Given the description of an element on the screen output the (x, y) to click on. 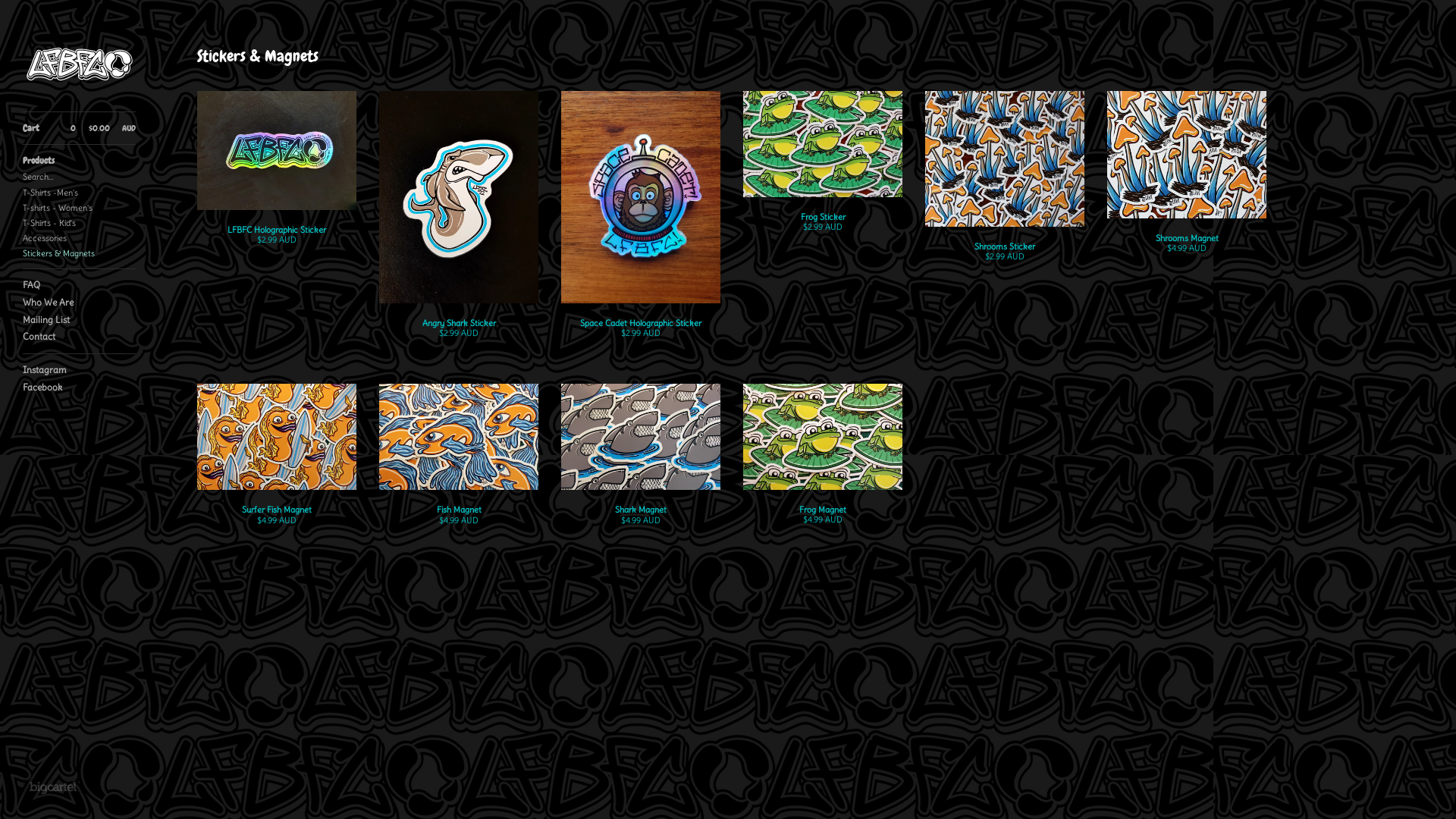
Contact Element type: text (78, 336)
Facebook Element type: text (78, 387)
T-Shirts - Kid's Element type: text (78, 222)
Surfer Fish Magnet
$4.99 AUD Element type: text (276, 465)
Stickers & Magnets Element type: text (78, 252)
Shrooms Magnet
$4.99 AUD Element type: text (1186, 183)
Powered by Big Cartel Element type: text (52, 787)
Space Cadet Holographic Sticker
$2.99 AUD Element type: text (640, 225)
Cart
$
0.00
AUD
0 Element type: text (78, 128)
Shark Magnet
$4.99 AUD Element type: text (640, 465)
Who We Are Element type: text (78, 302)
Little Fish Big Fish Clothing Element type: hover (79, 63)
Mailing List Element type: text (78, 320)
LFBFC Holographic Sticker
$2.99 AUD Element type: text (276, 179)
T-shirts - Women's Element type: text (78, 207)
Frog Magnet
$4.99 AUD Element type: text (822, 465)
Fish Magnet
$4.99 AUD Element type: text (458, 465)
T-Shirts -Men's Element type: text (78, 192)
Shrooms Sticker
$2.99 AUD Element type: text (1004, 187)
Products Element type: text (78, 160)
Frog Sticker
$2.99 AUD Element type: text (822, 172)
Accessories Element type: text (78, 237)
FAQ Element type: text (78, 285)
Angry Shark Sticker
$2.99 AUD Element type: text (458, 225)
Instagram Element type: text (78, 370)
